Given the description of an element on the screen output the (x, y) to click on. 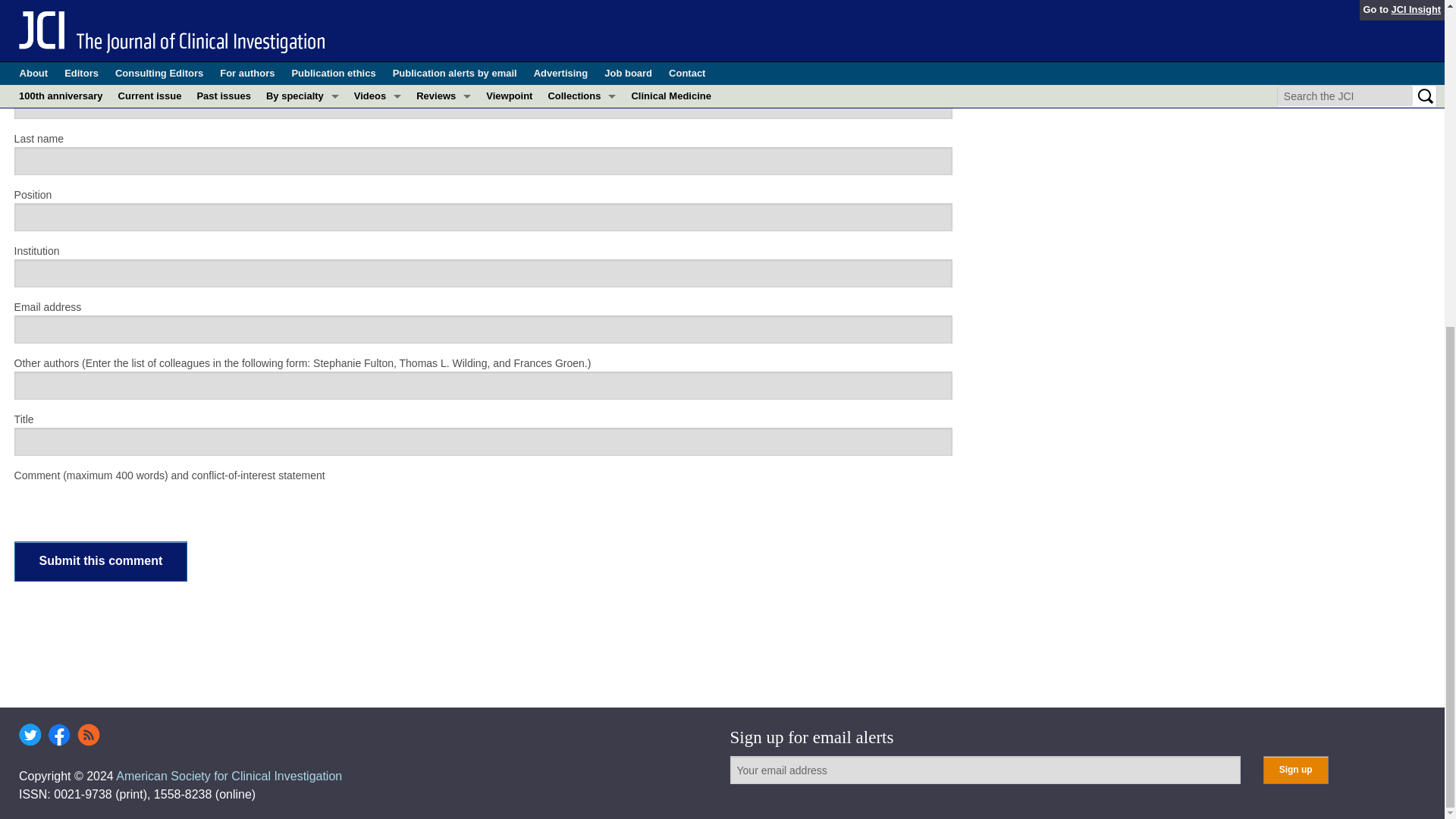
Submit this comment (100, 561)
Facebook (58, 734)
Twitter (30, 734)
Sign up (1295, 769)
RSS (88, 734)
